Given the description of an element on the screen output the (x, y) to click on. 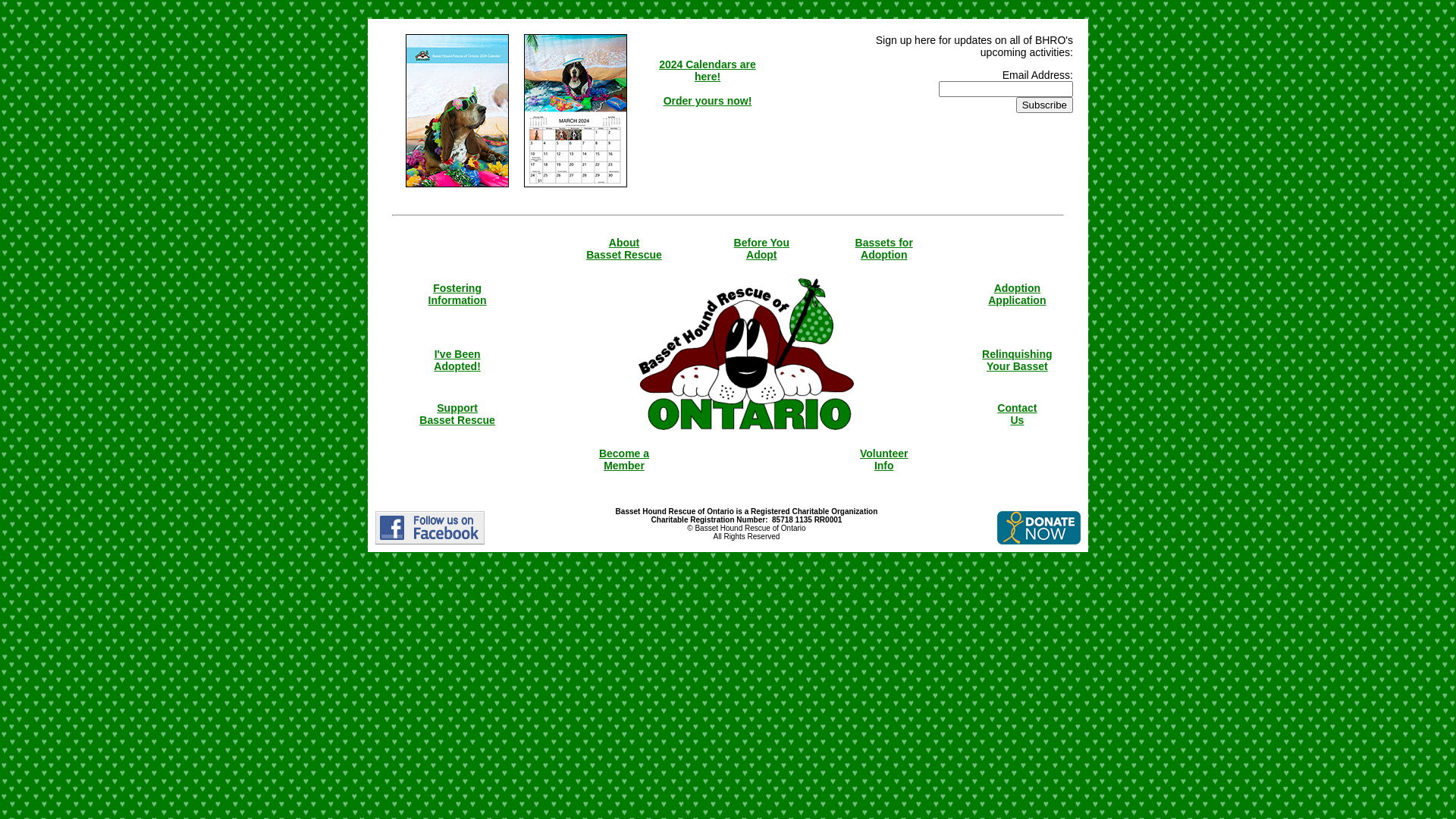
Become a
Member Element type: text (624, 459)
Before You
Adopt Element type: text (761, 248)
Bassets for
Adoption Element type: text (884, 248)
2024 Calendars are here!

Order yours now! Element type: text (707, 82)
About
Basset Rescue Element type: text (624, 248)
Relinquishing
Your Basset Element type: text (1017, 366)
Fostering
Information Element type: text (457, 294)
Support
Basset Rescue Element type: text (457, 413)
Subscribe Element type: text (1044, 104)
I've Been
Adopted! Element type: text (456, 366)
Contact
Us Element type: text (1016, 413)
Volunteer
Info Element type: text (883, 459)
Adoption
Application Element type: text (1016, 294)
